Given the description of an element on the screen output the (x, y) to click on. 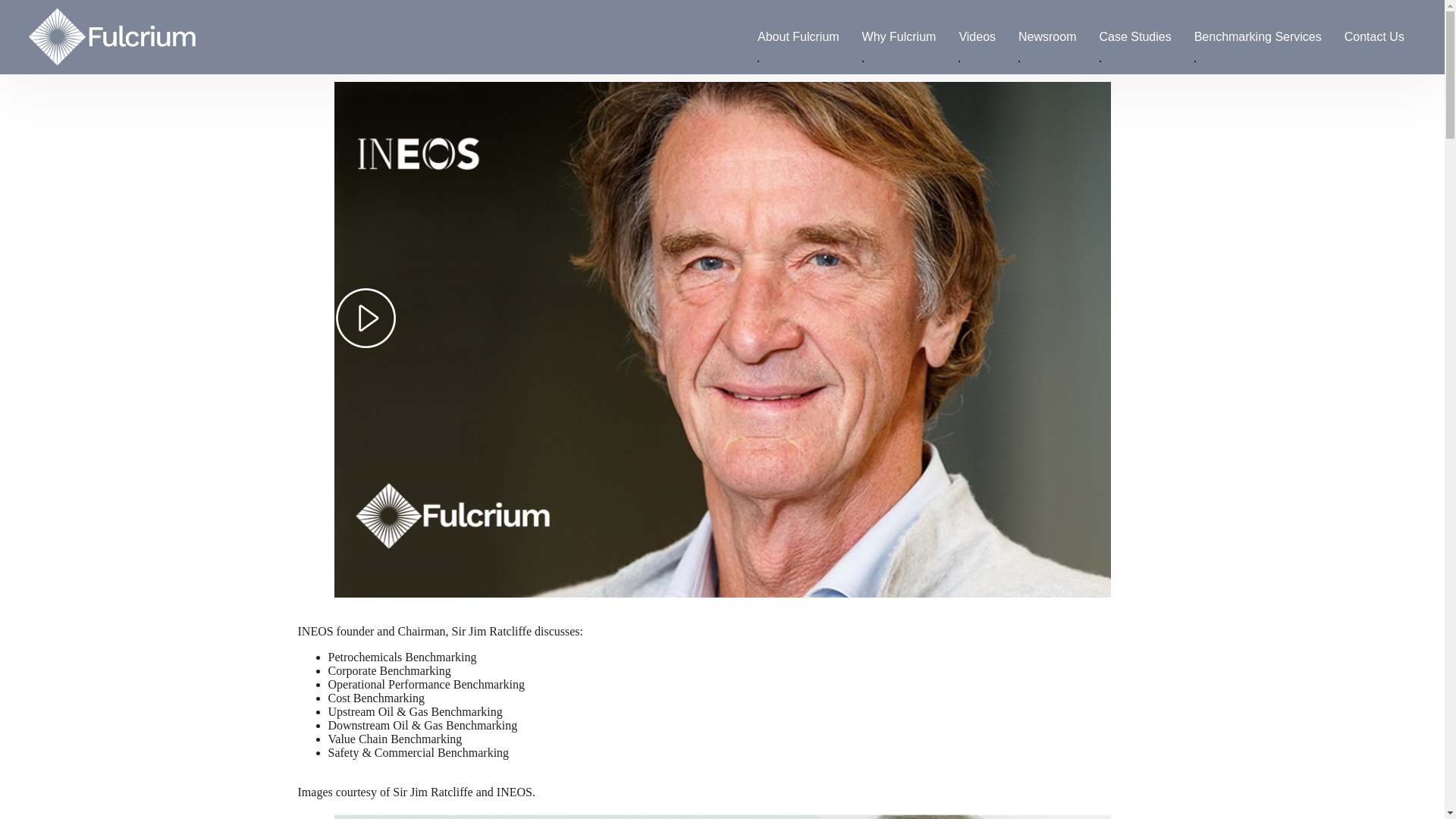
Contact Us (1374, 36)
Videos (977, 36)
Benchmarking Services (1257, 36)
About Fulcrium (797, 36)
Why Fulcrium (898, 36)
Case Studies (1134, 36)
Newsroom (1047, 36)
